Given the description of an element on the screen output the (x, y) to click on. 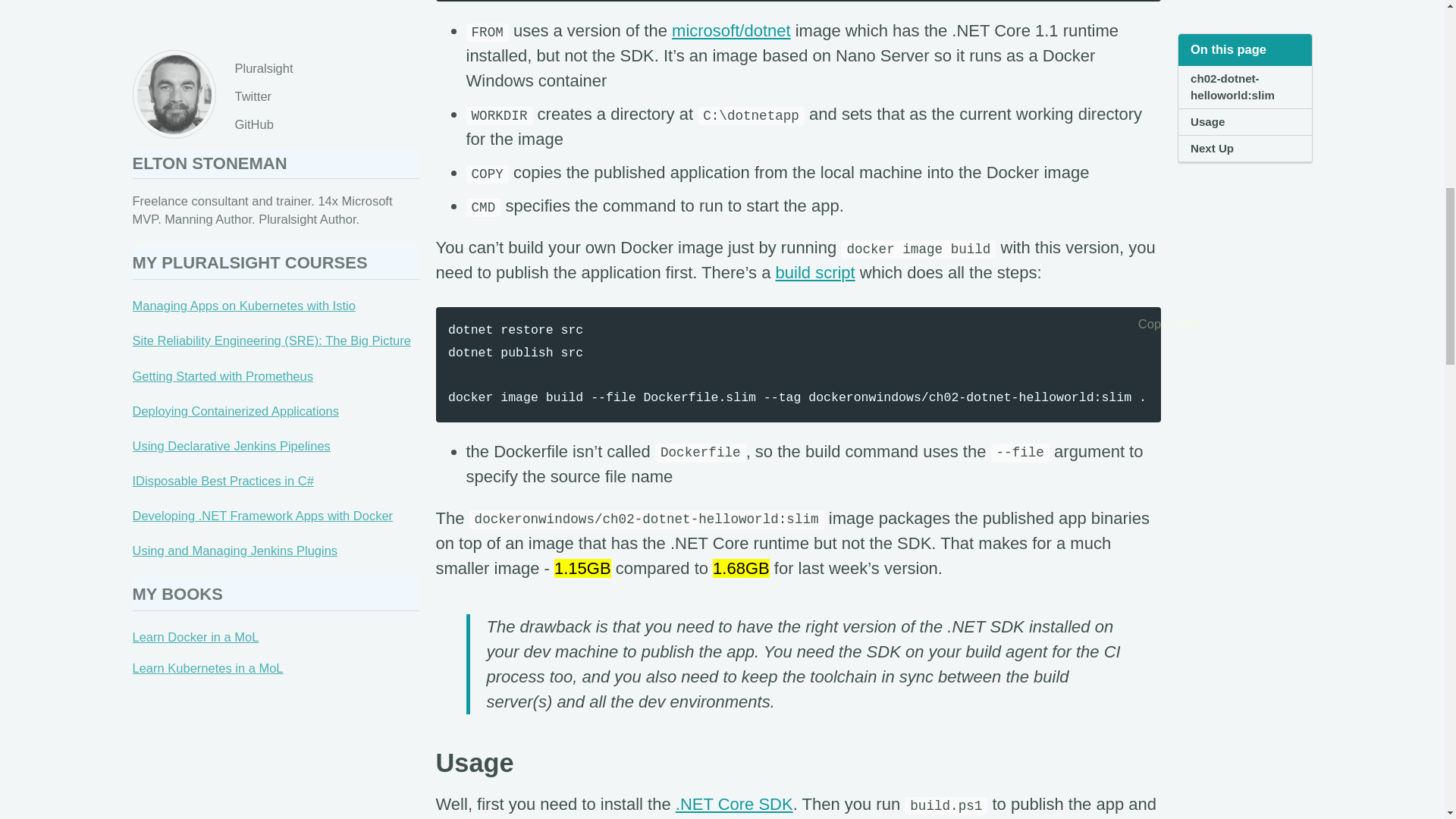
Copy code (1143, 323)
.NET Core SDK (734, 804)
build script (816, 271)
Copy to clipboard (1143, 323)
